Given the description of an element on the screen output the (x, y) to click on. 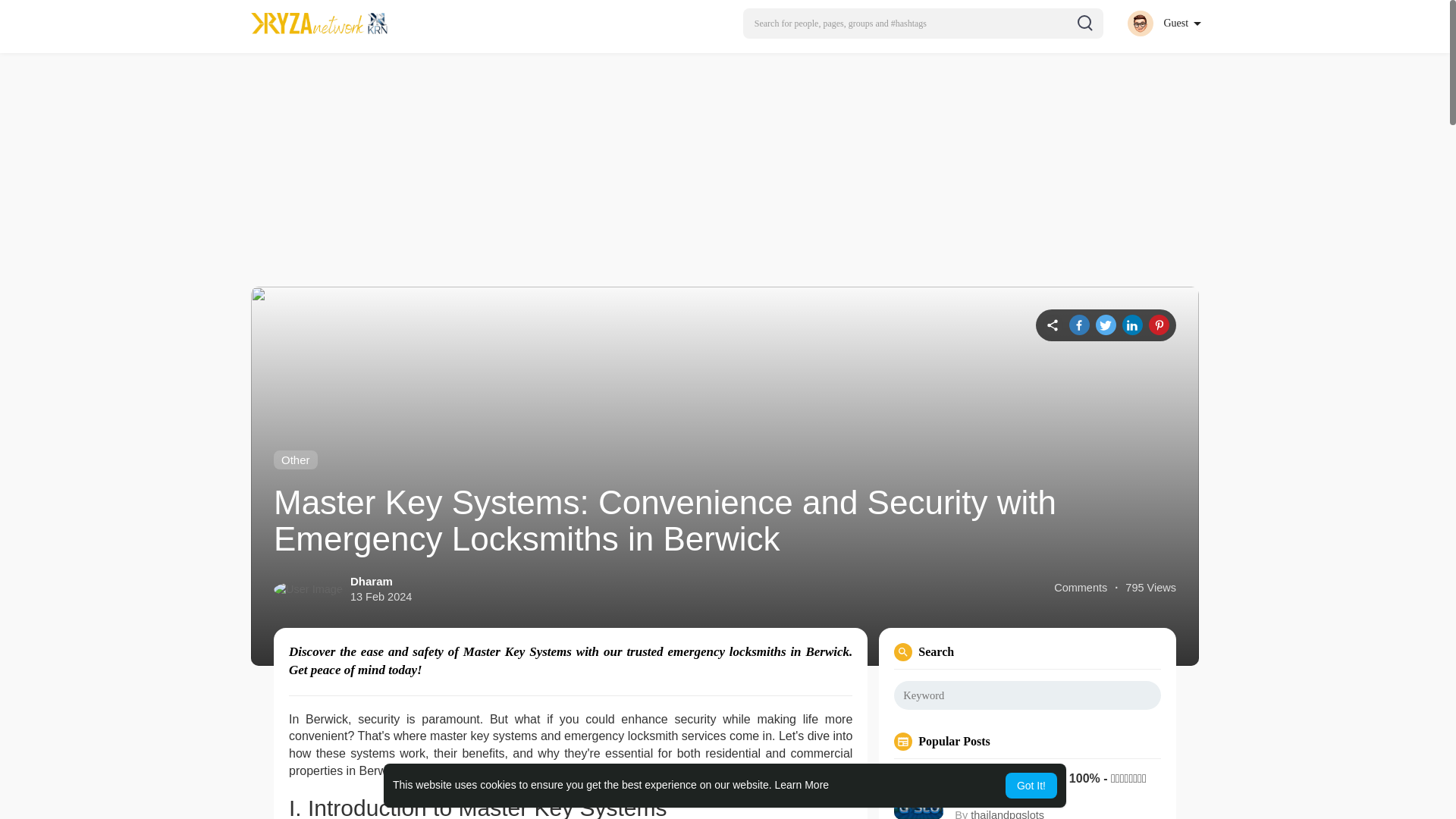
Other (295, 459)
Learn More (801, 784)
Guest (1163, 23)
Linkedin (1132, 324)
thailandpgslots (1007, 814)
Comments (1080, 587)
Got It! (1031, 785)
Pinterest (1158, 324)
Twitter (1106, 324)
Facebook (1078, 324)
Timeline (1052, 324)
Dharam (371, 581)
